Given the description of an element on the screen output the (x, y) to click on. 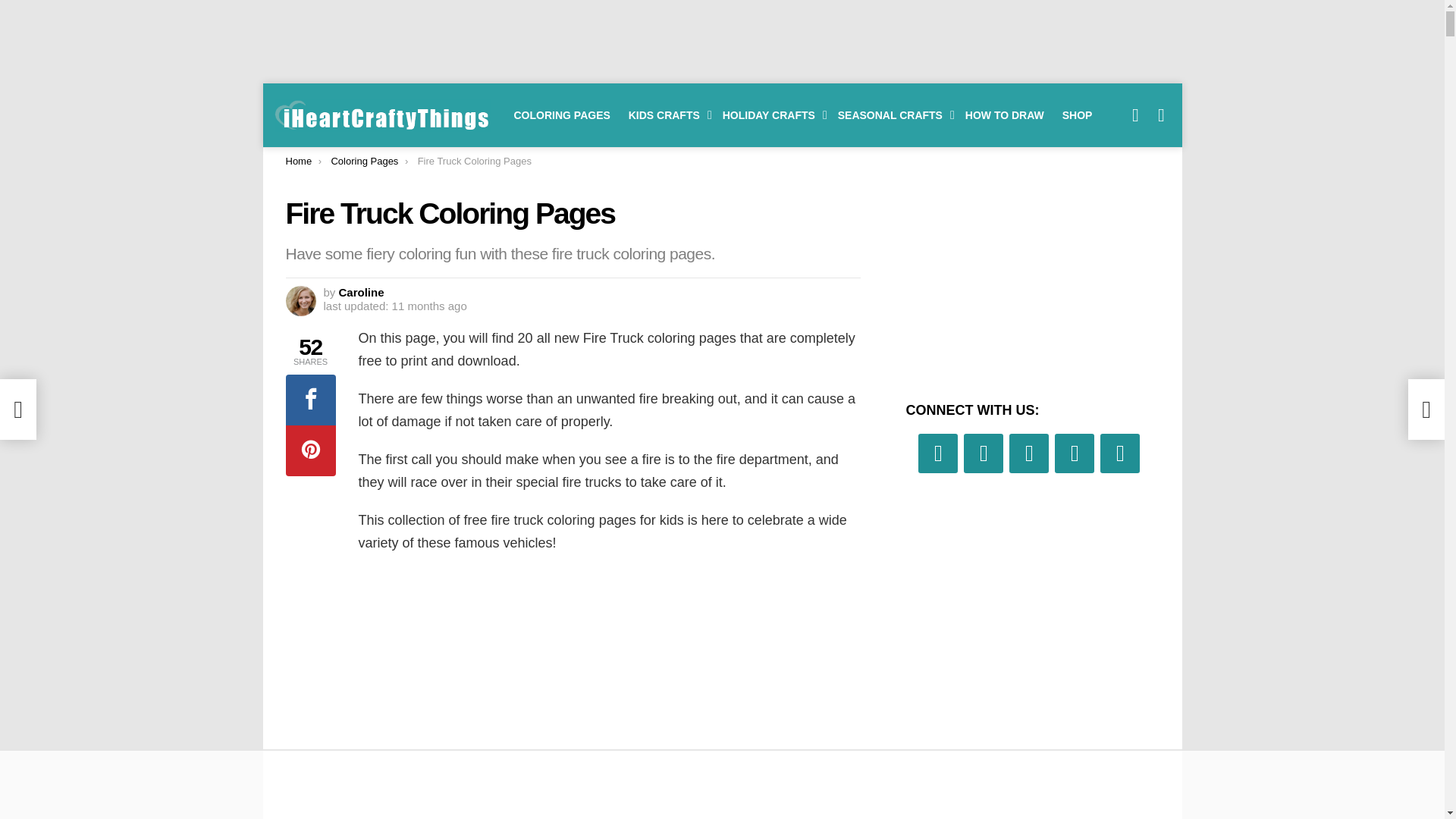
SHOP (1077, 115)
HOLIDAY CRAFTS (770, 115)
September 23, 2023, 12:29 AM (394, 305)
KIDS CRAFTS (666, 115)
Posts by Caroline (361, 291)
COLORING PAGES (561, 115)
SEASONAL CRAFTS (892, 115)
HOW TO DRAW (1004, 115)
